Given the description of an element on the screen output the (x, y) to click on. 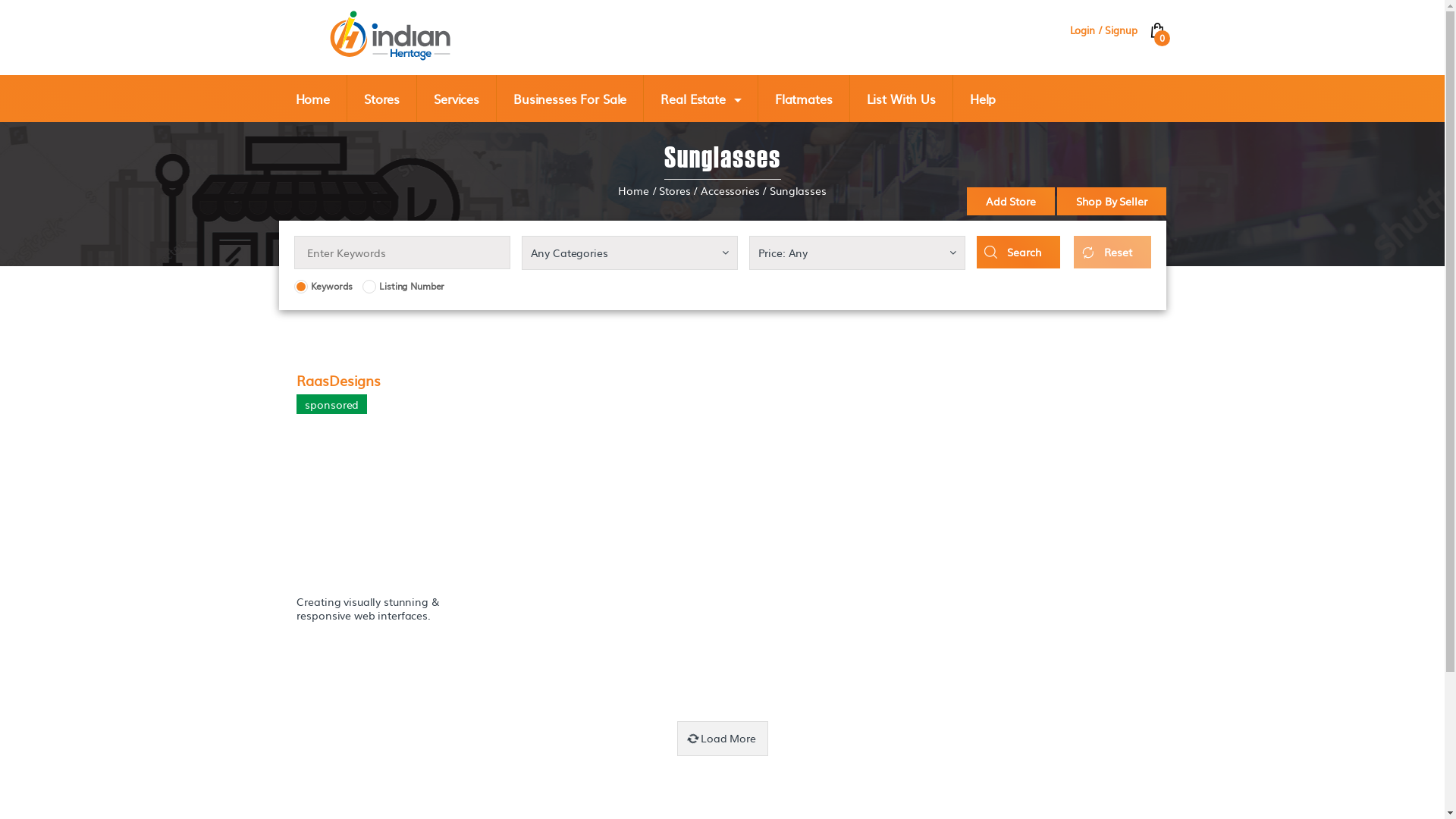
Home Element type: text (633, 191)
Stores Element type: text (674, 191)
Reset Element type: text (1112, 251)
Login / Signup Element type: text (1109, 30)
Shop By Seller Element type: text (1111, 201)
Accessories Element type: text (729, 191)
Services Element type: text (456, 98)
Help Element type: text (982, 98)
Stores Element type: text (382, 98)
Flatmates Element type: text (804, 98)
Add Store Element type: text (1010, 201)
Home Element type: text (313, 98)
List With Us Element type: text (901, 98)
Real Estate Element type: text (700, 98)
Reset Element type: text (1112, 249)
0 Element type: text (1157, 31)
Businesses For Sale Element type: text (569, 98)
Search Element type: text (1018, 251)
